Given the description of an element on the screen output the (x, y) to click on. 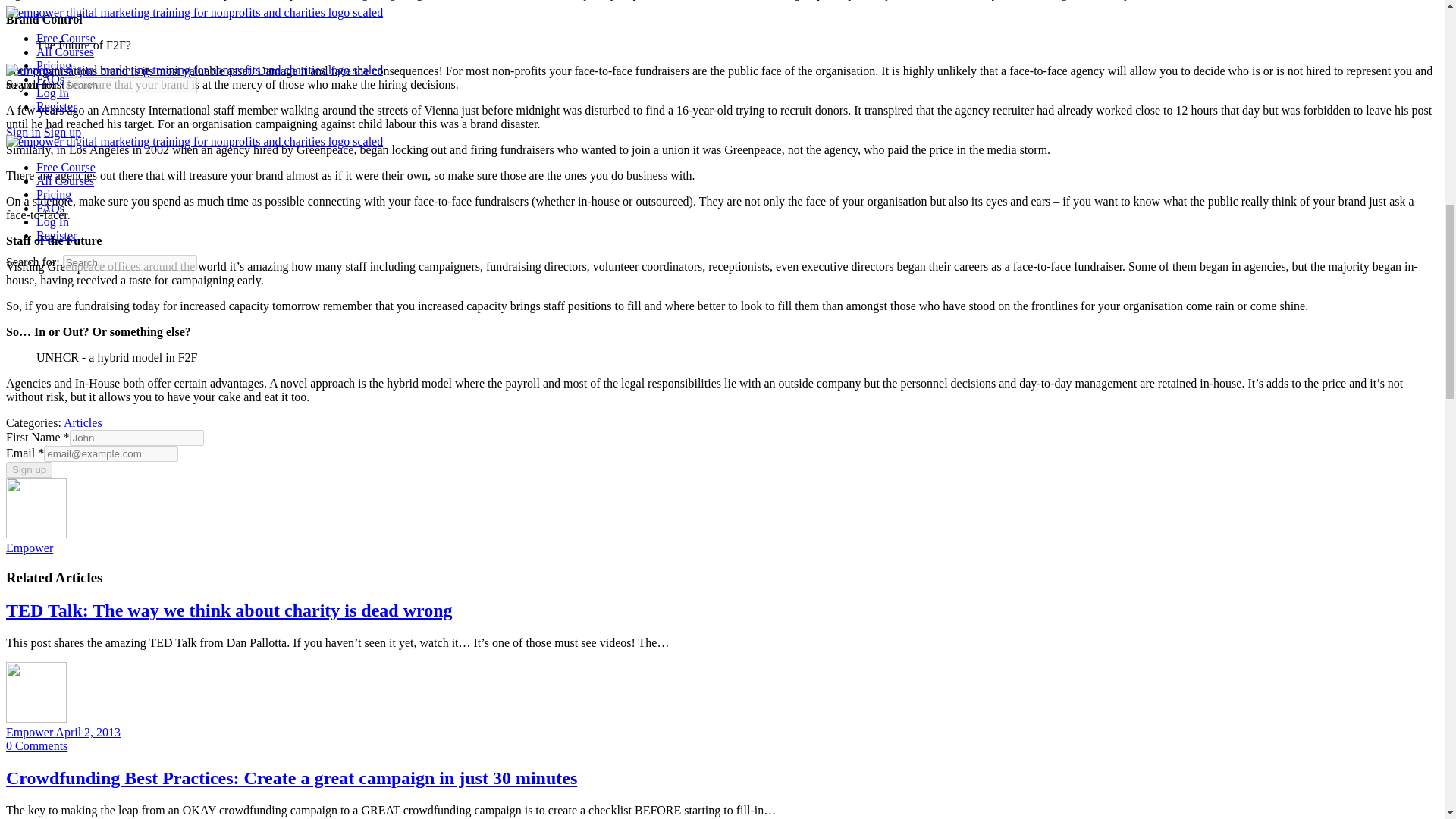
Empower (28, 547)
Articles (82, 422)
Empower (30, 731)
0 Comments (35, 745)
Do not include numbers or special characters. (136, 437)
Sign up (28, 469)
TED Talk: The way we think about charity is dead wrong (228, 609)
April 2, 2013 (87, 731)
